Given the description of an element on the screen output the (x, y) to click on. 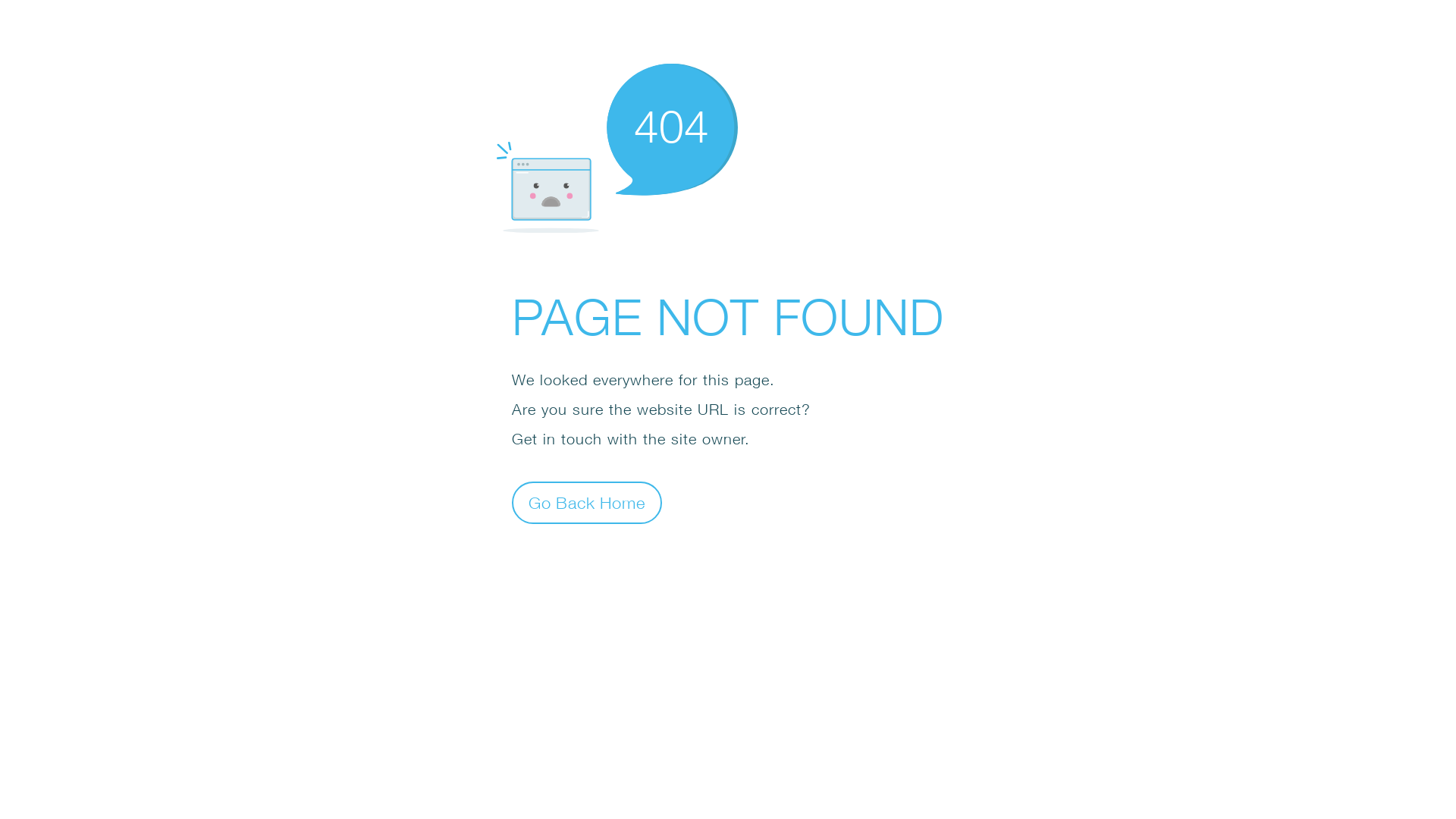
Go Back Home Element type: text (586, 502)
